Given the description of an element on the screen output the (x, y) to click on. 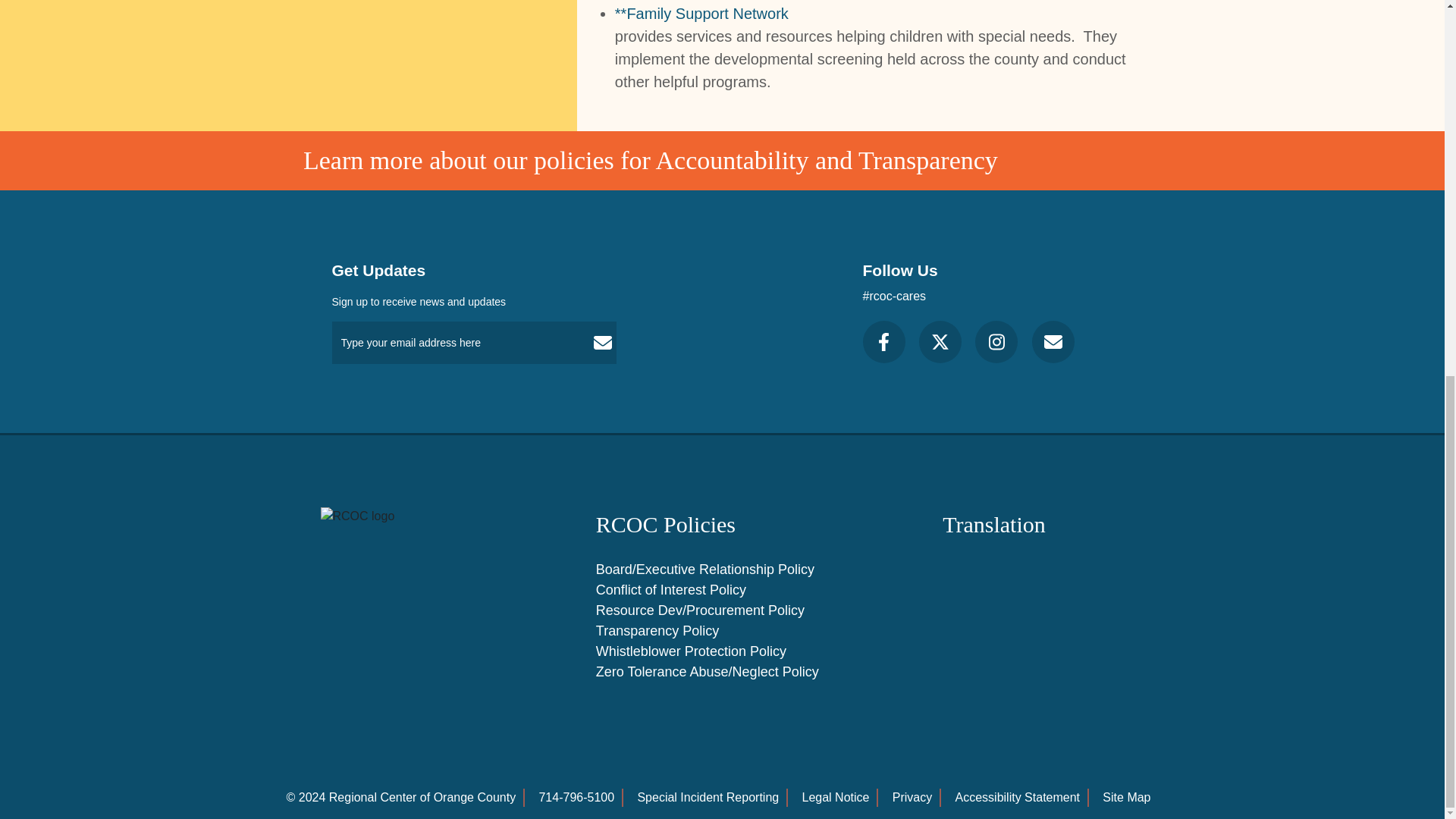
PDF (721, 629)
PDF (721, 651)
PDF (721, 670)
PDF (721, 610)
PDF (721, 589)
PDF (721, 569)
